Given the description of an element on the screen output the (x, y) to click on. 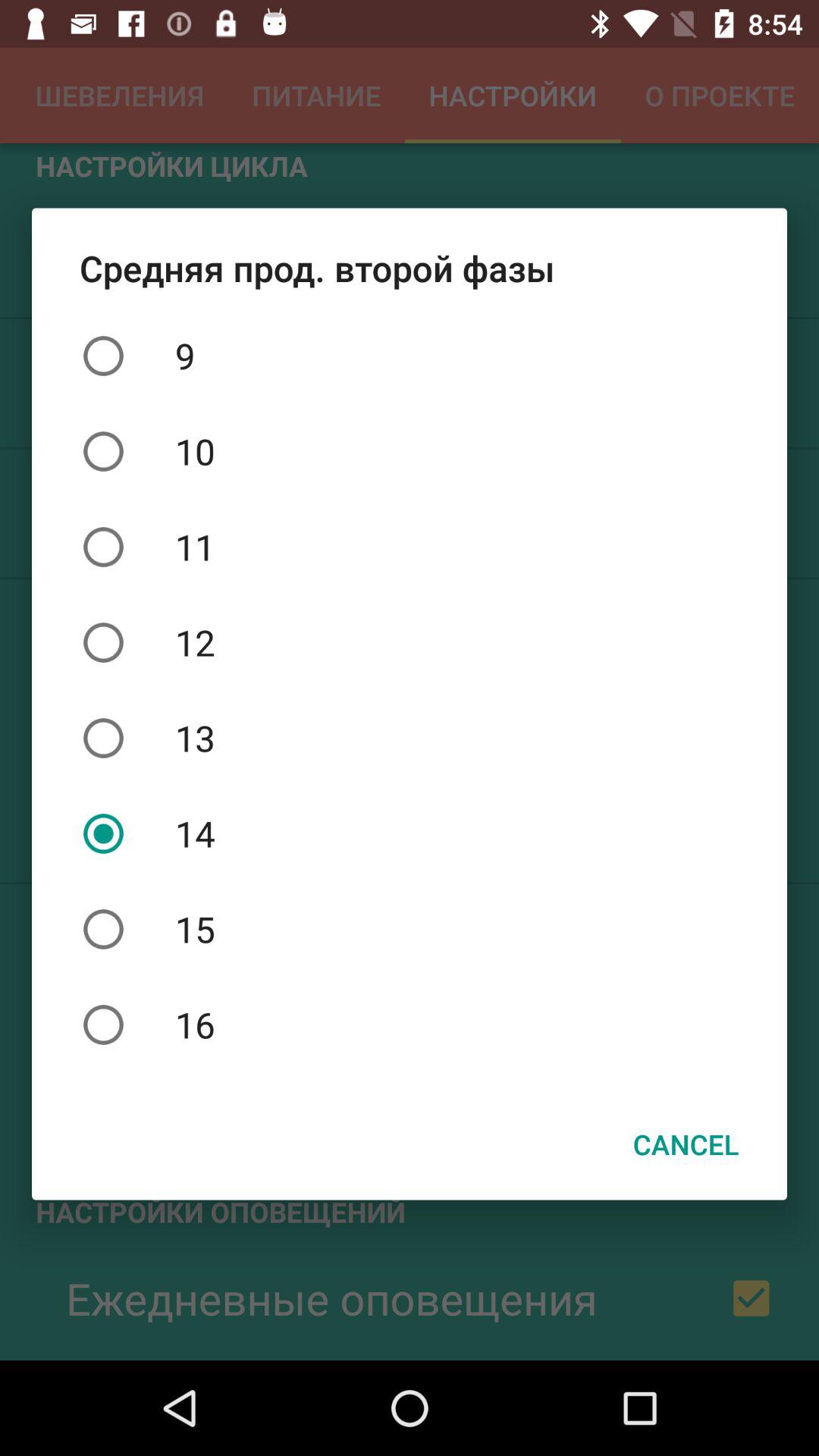
turn on the item above 12 icon (409, 546)
